Given the description of an element on the screen output the (x, y) to click on. 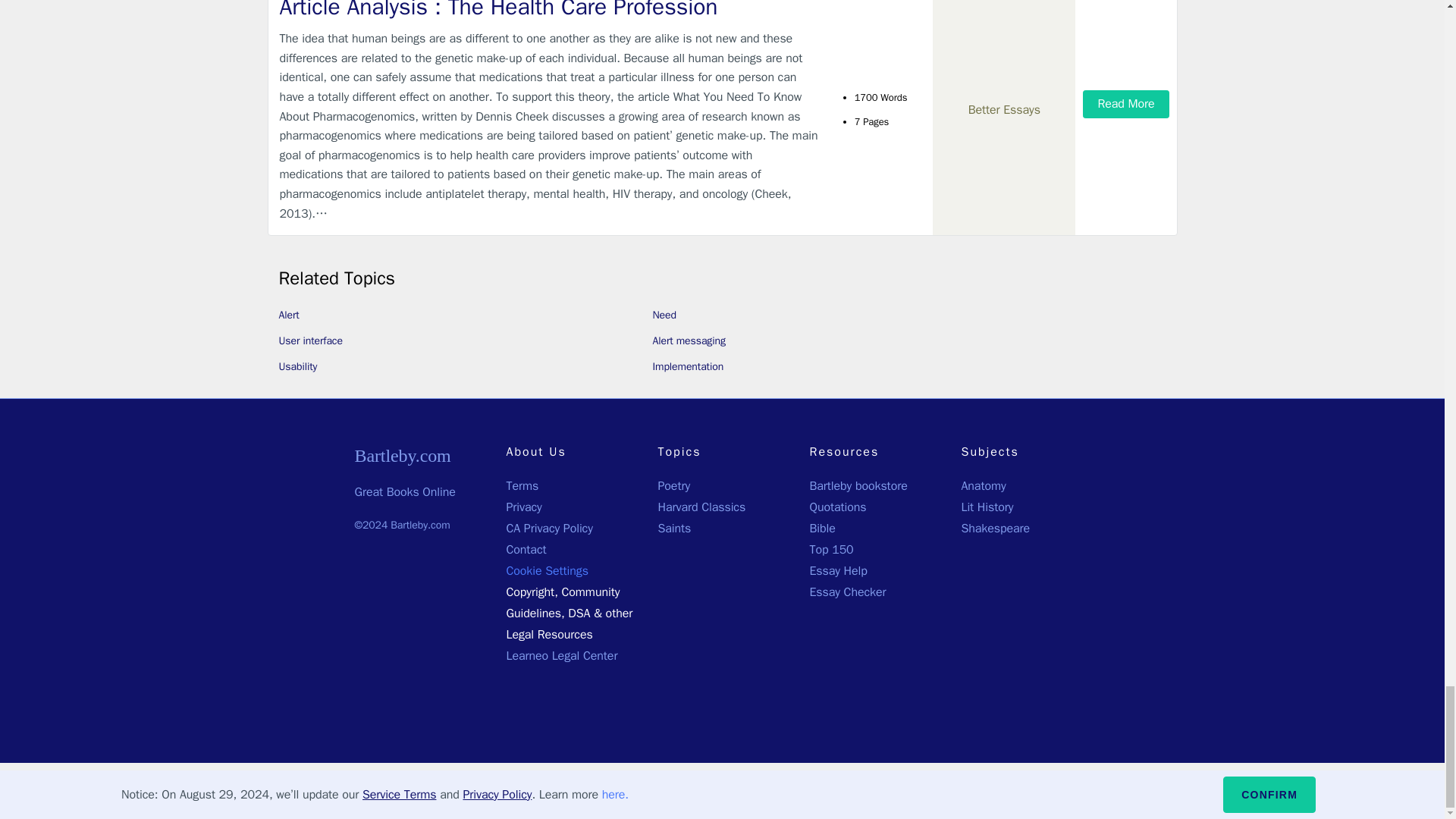
Alert messaging (688, 340)
User interface (310, 340)
Need (663, 314)
Usability (298, 366)
Implementation (687, 366)
Alert (289, 314)
